Given the description of an element on the screen output the (x, y) to click on. 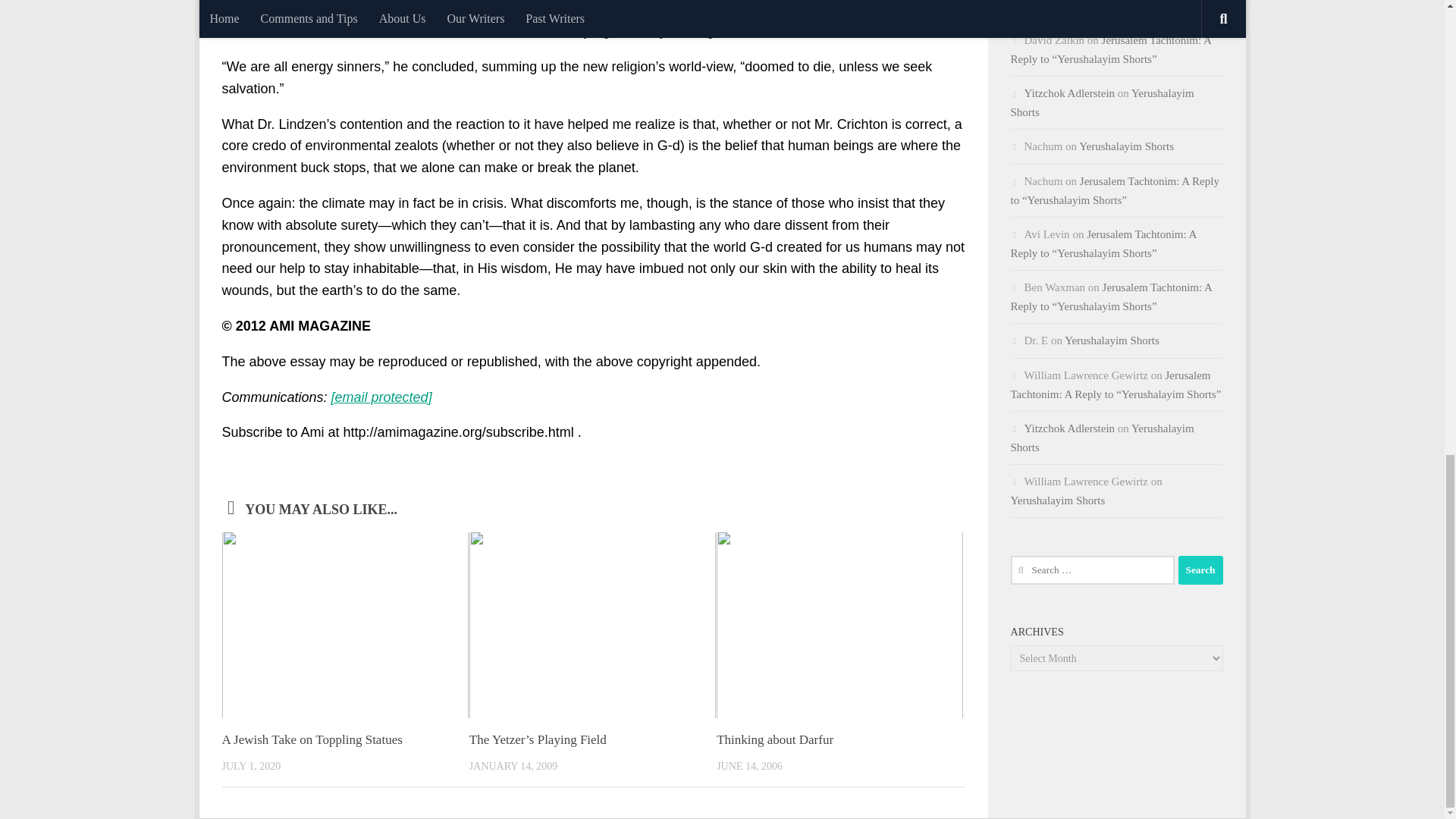
Thinking about Darfur (774, 739)
A Jewish Take on Toppling Statues (311, 739)
Search (1200, 570)
Search (1200, 570)
